Given the description of an element on the screen output the (x, y) to click on. 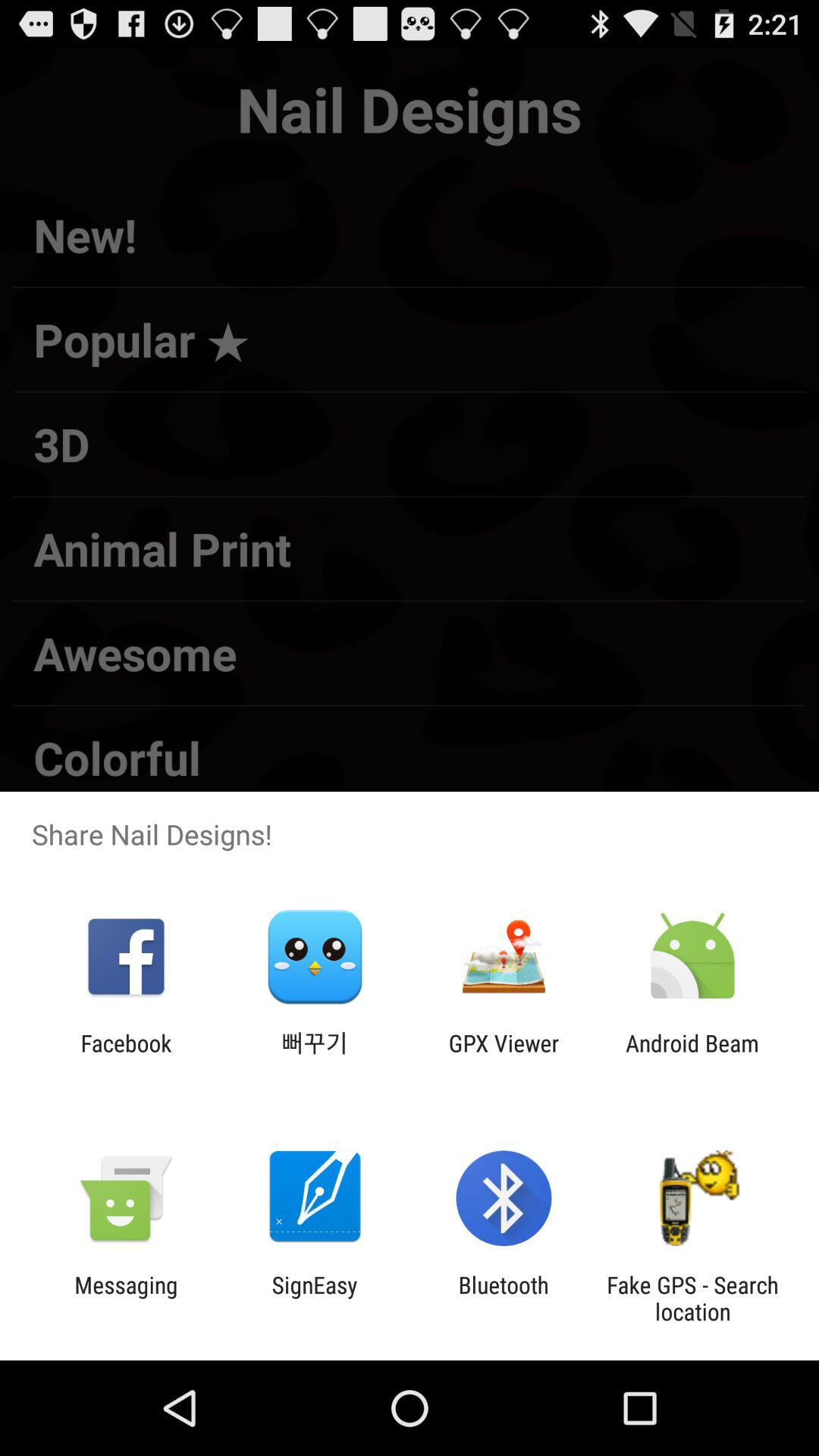
choose icon to the left of the bluetooth (314, 1298)
